Given the description of an element on the screen output the (x, y) to click on. 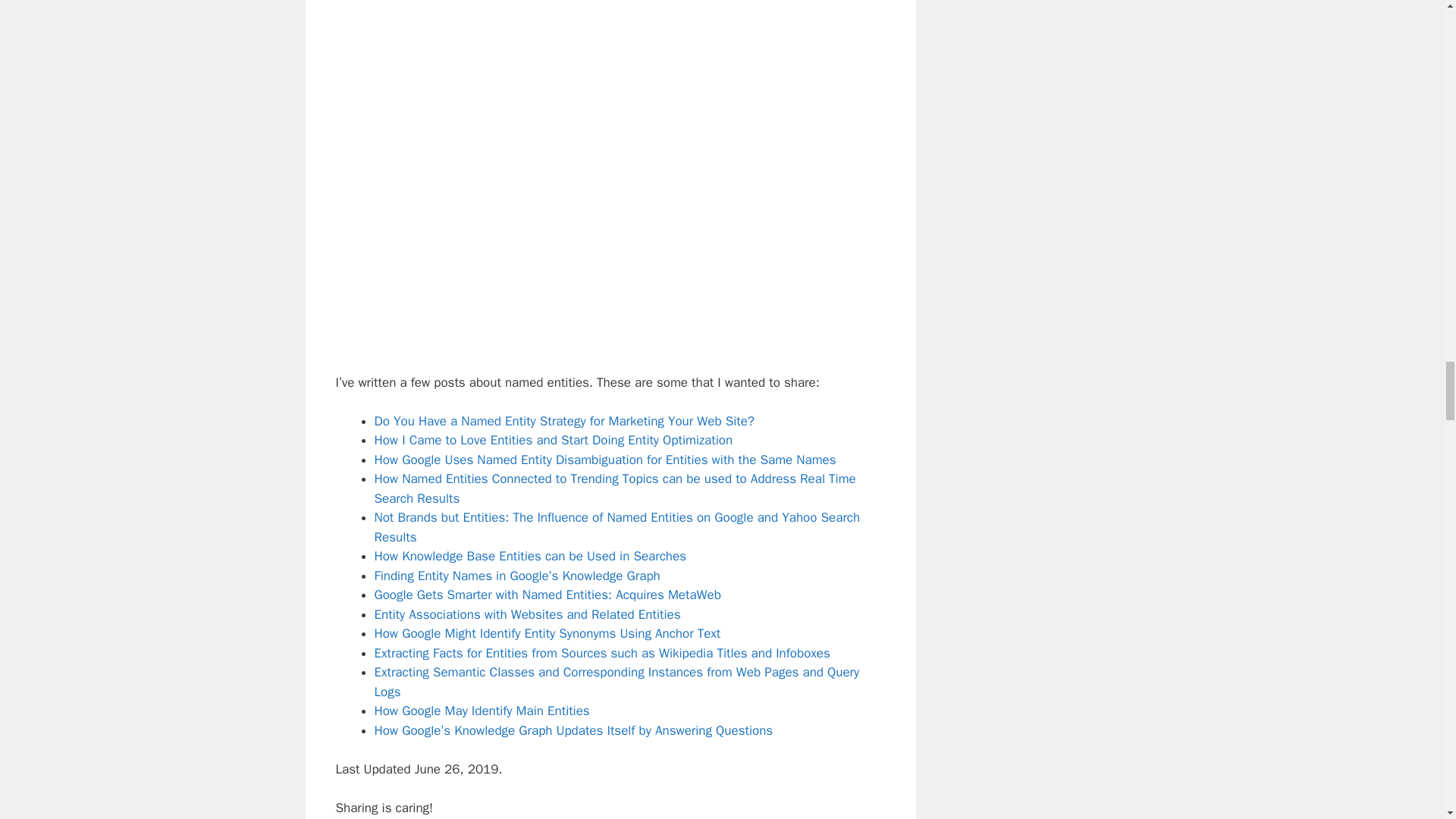
Entity Associations with Websites and Related Entities (527, 614)
How Google Might Identify Entity Synonyms Using Anchor Text (547, 633)
How Knowledge Base Entities can be Used in Searches (530, 555)
Google Gets Smarter with Named Entities: Acquires MetaWeb (547, 594)
